Given the description of an element on the screen output the (x, y) to click on. 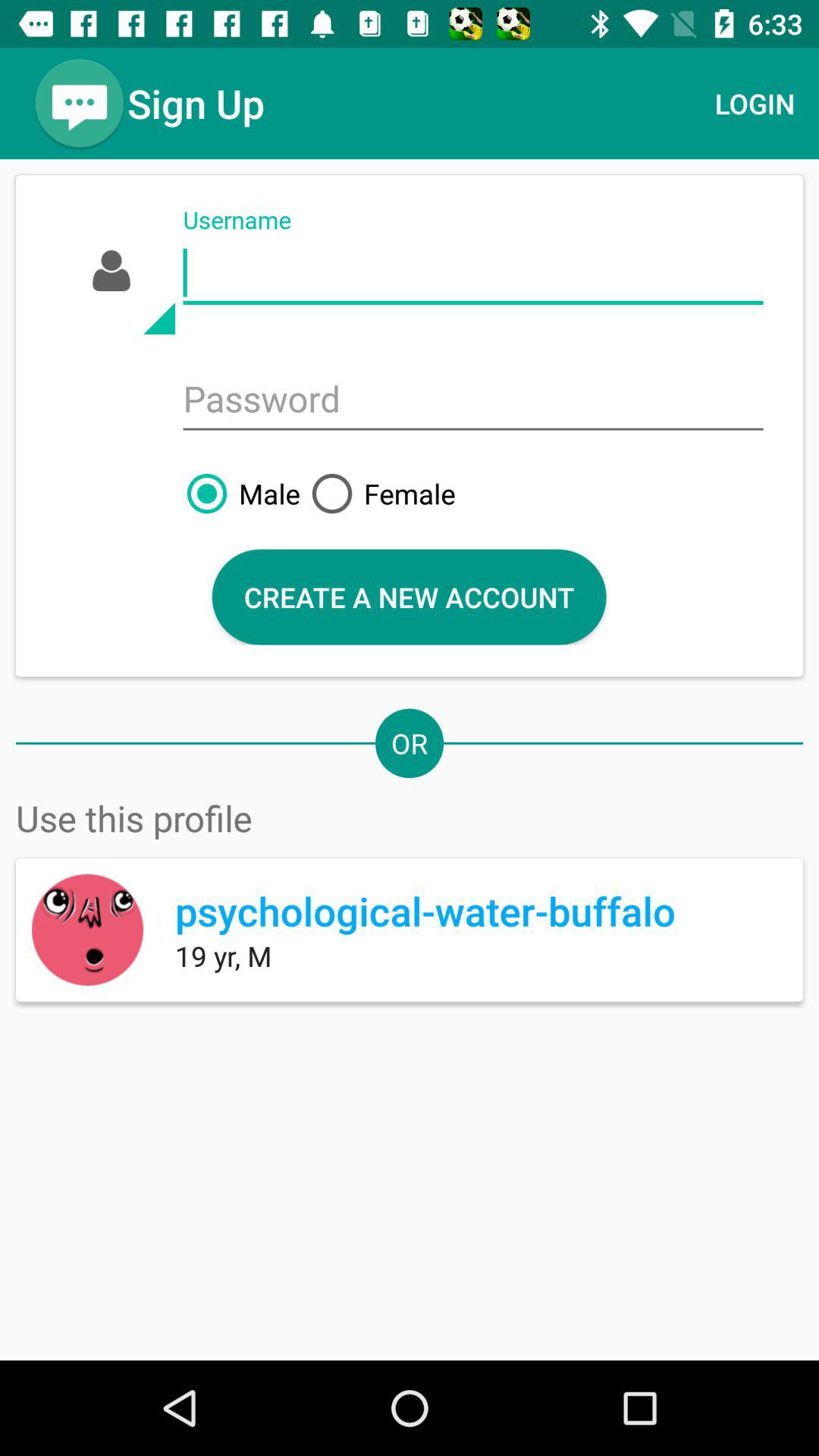
user name for login text field for user name (473, 273)
